Given the description of an element on the screen output the (x, y) to click on. 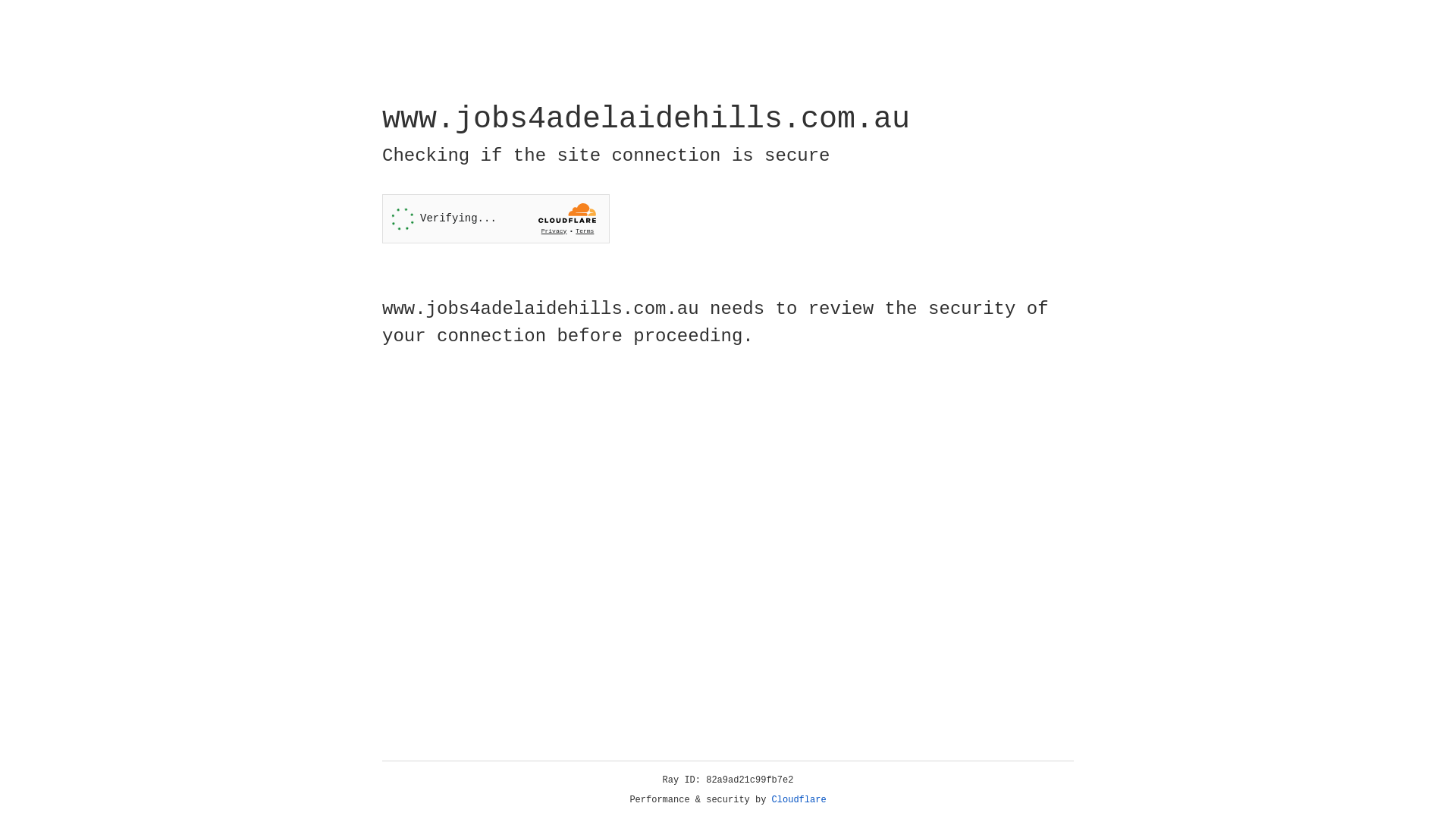
Cloudflare Element type: text (798, 799)
Widget containing a Cloudflare security challenge Element type: hover (495, 218)
